Given the description of an element on the screen output the (x, y) to click on. 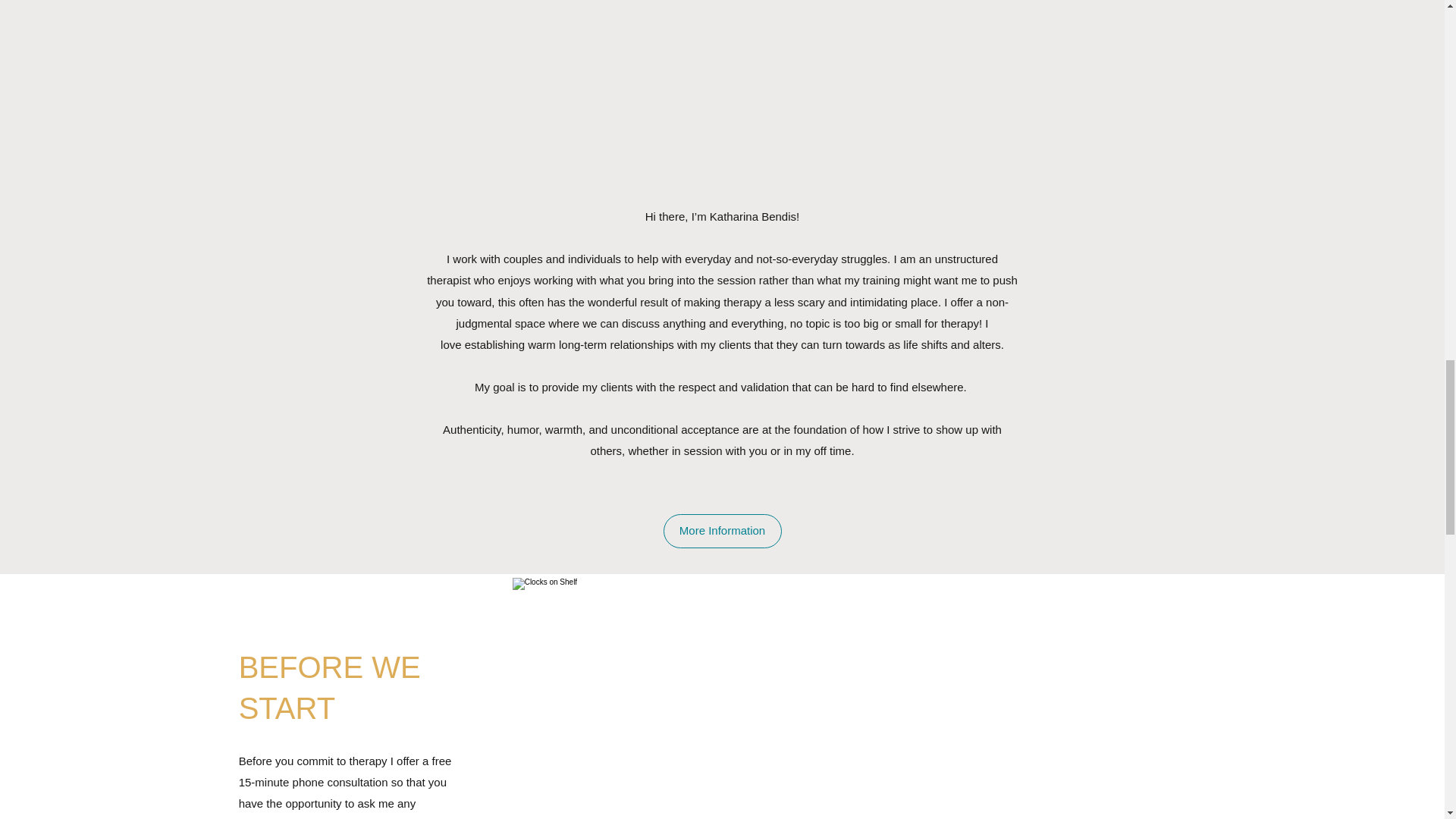
More Information (721, 530)
